Given the description of an element on the screen output the (x, y) to click on. 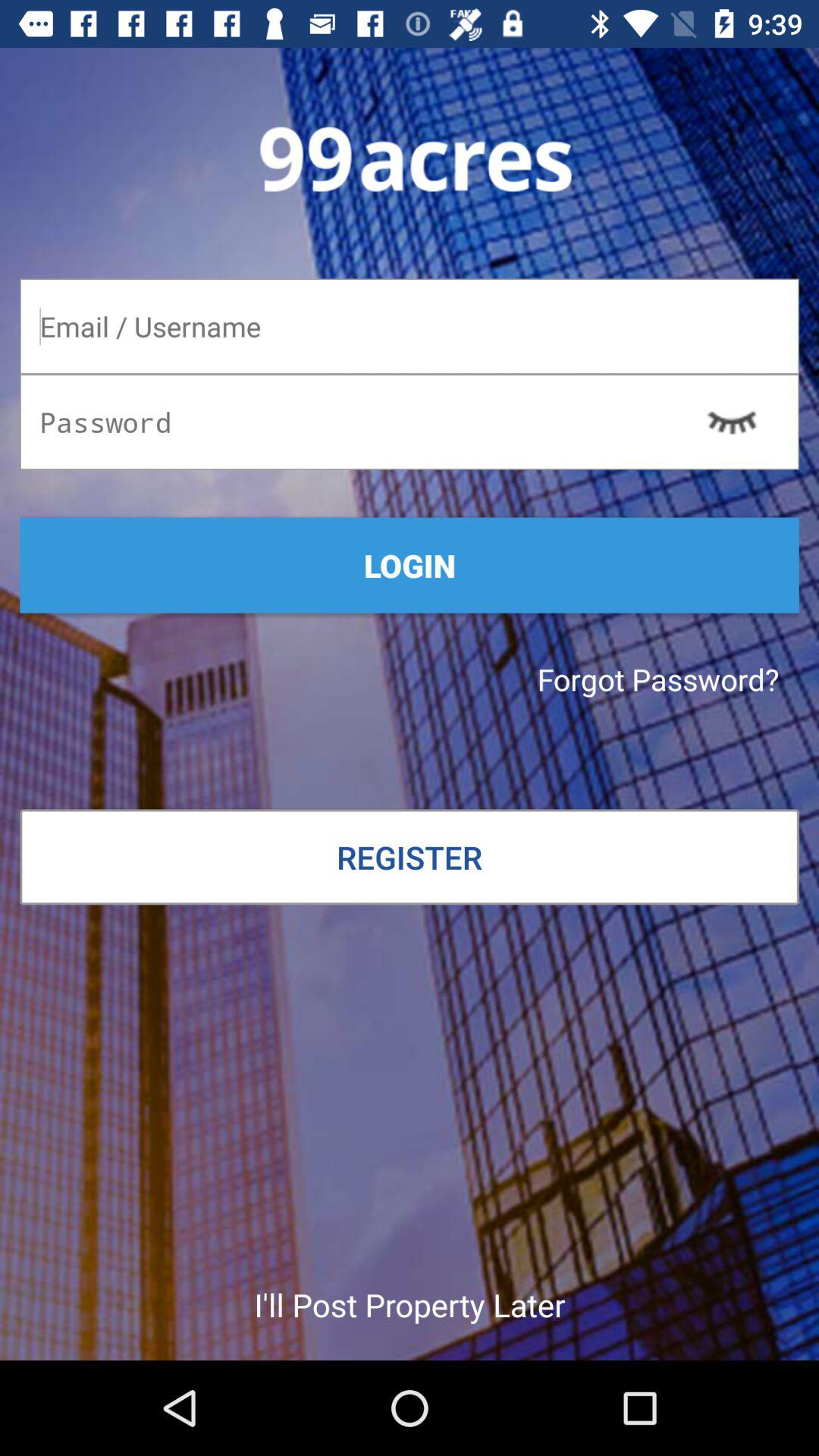
enter your password (409, 421)
